Given the description of an element on the screen output the (x, y) to click on. 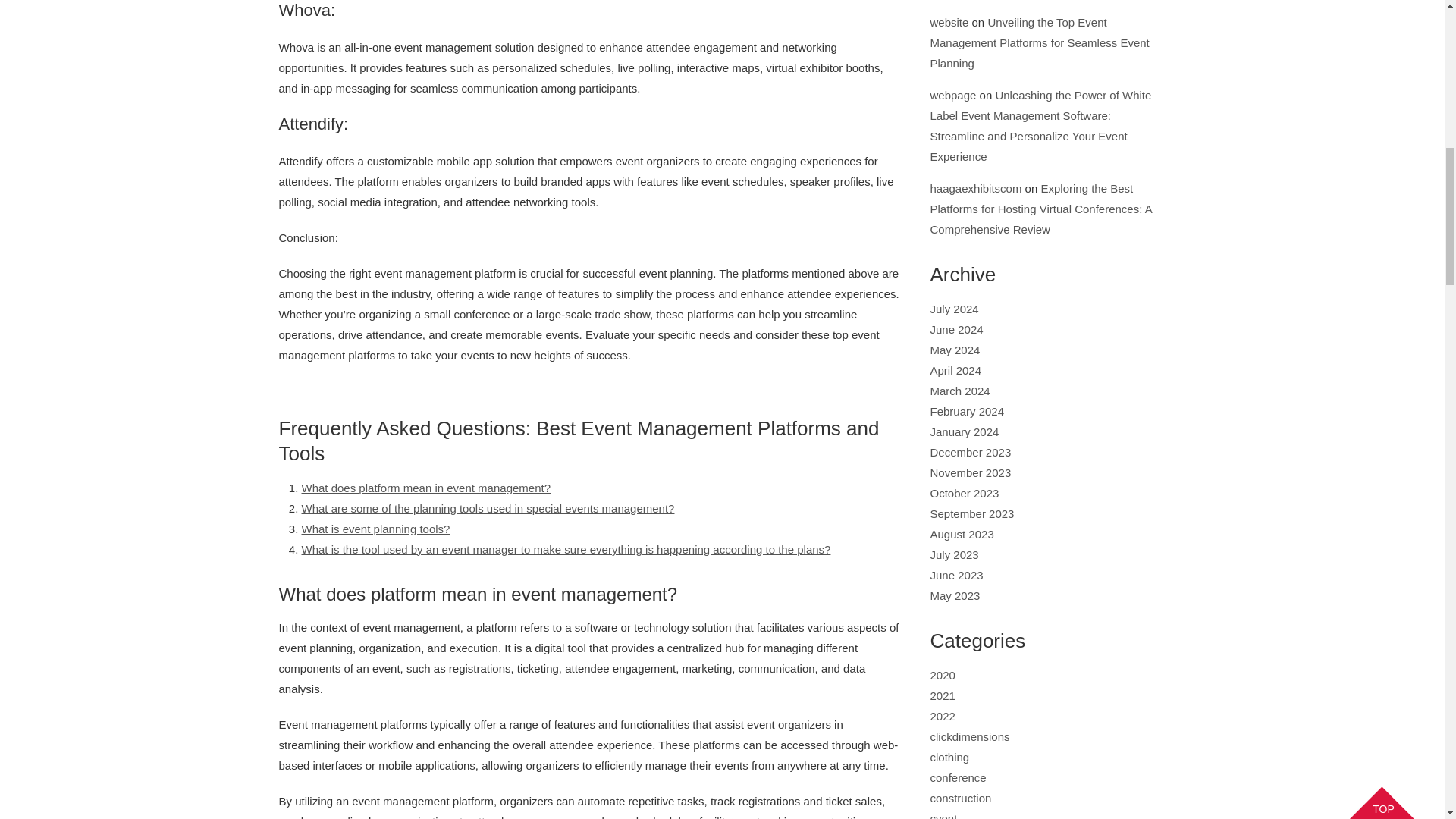
What does platform mean in event management? (426, 487)
What is event planning tools? (375, 528)
